Given the description of an element on the screen output the (x, y) to click on. 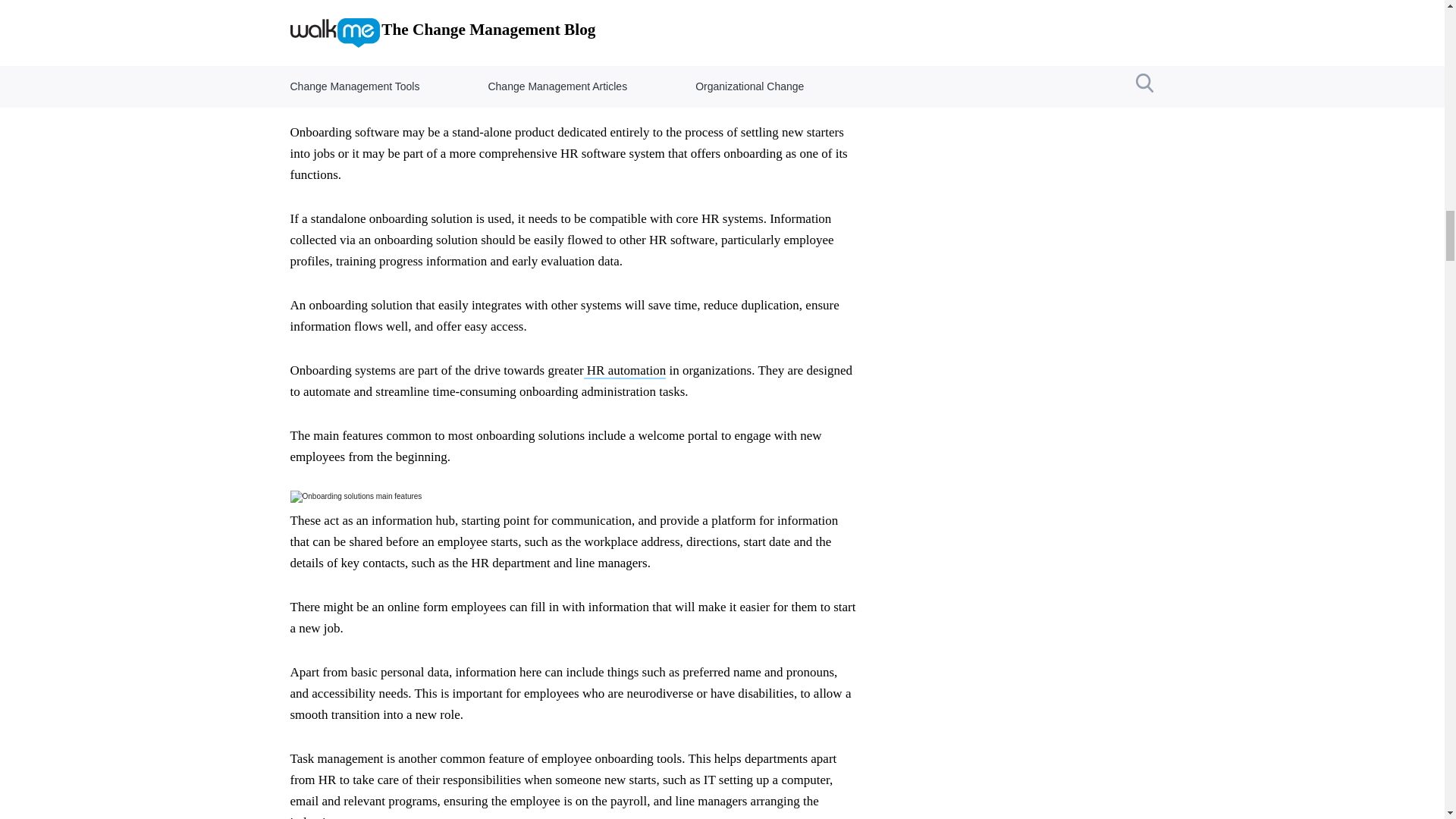
HR automation (624, 371)
